Given the description of an element on the screen output the (x, y) to click on. 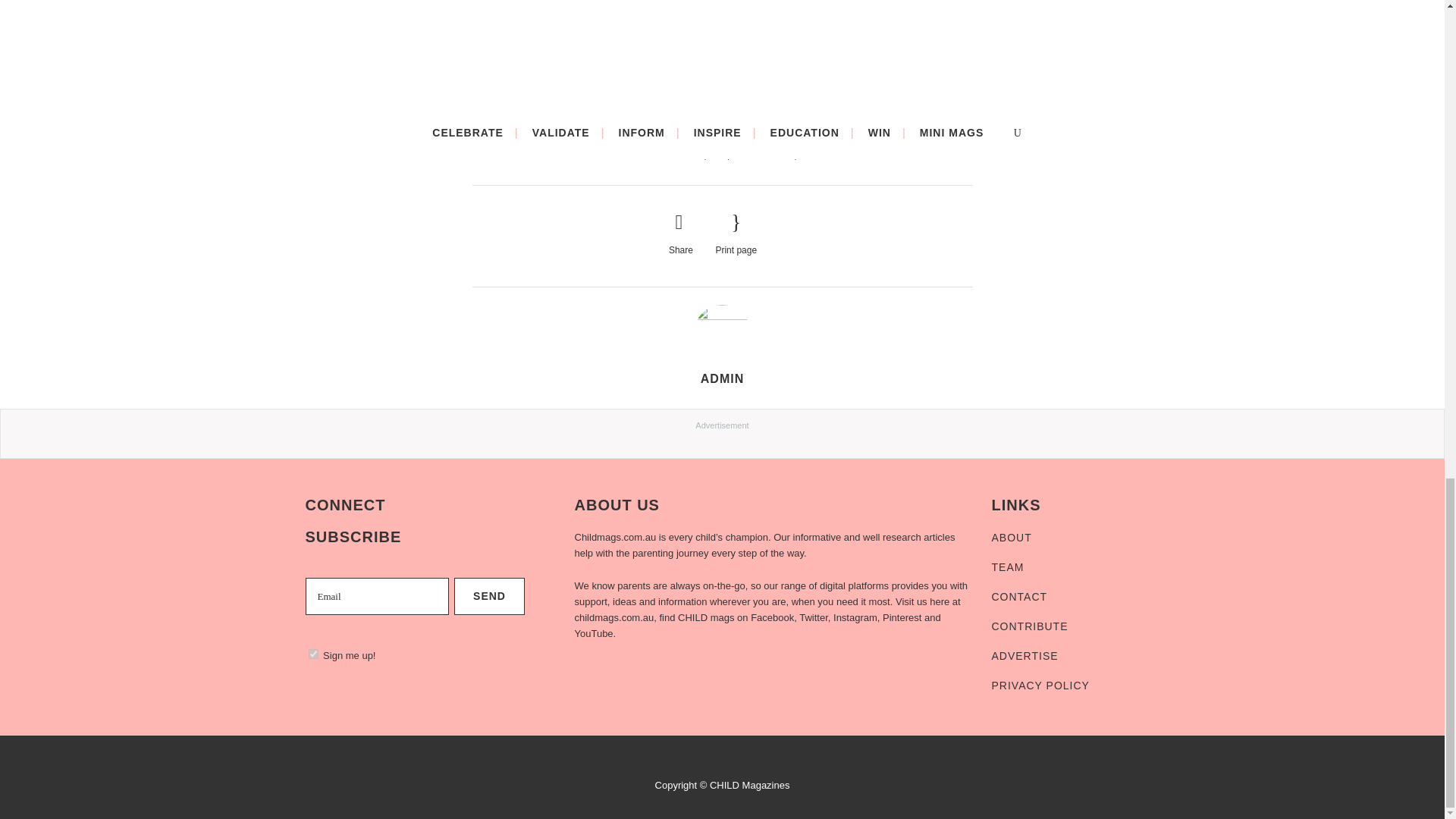
DIY (718, 154)
1 (312, 654)
FREE PRINTABLE SUPER-KAWAII LUNCHBOX NOTES (549, 53)
Send (489, 596)
Printables (822, 154)
Australiana (678, 154)
Kids Activities (763, 154)
